Given the description of an element on the screen output the (x, y) to click on. 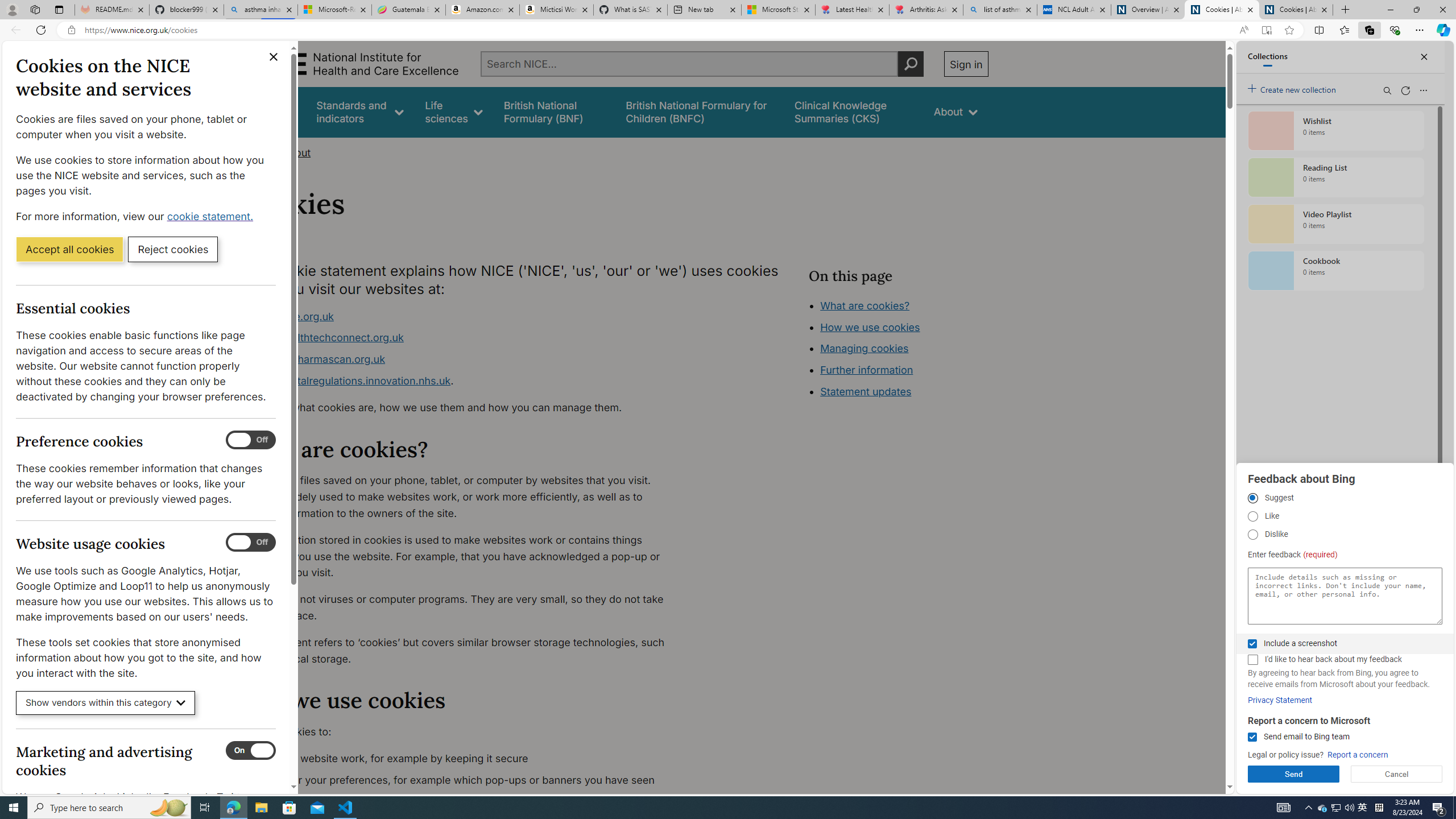
About (296, 152)
Report a concern (1358, 755)
Close cookie banner (273, 56)
www.nice.org.uk (292, 315)
Life sciences (453, 111)
www.healthtechconnect.org.uk (464, 338)
How we use cookies (909, 389)
www.digitalregulations.innovation.nhs.uk (351, 380)
